Given the description of an element on the screen output the (x, y) to click on. 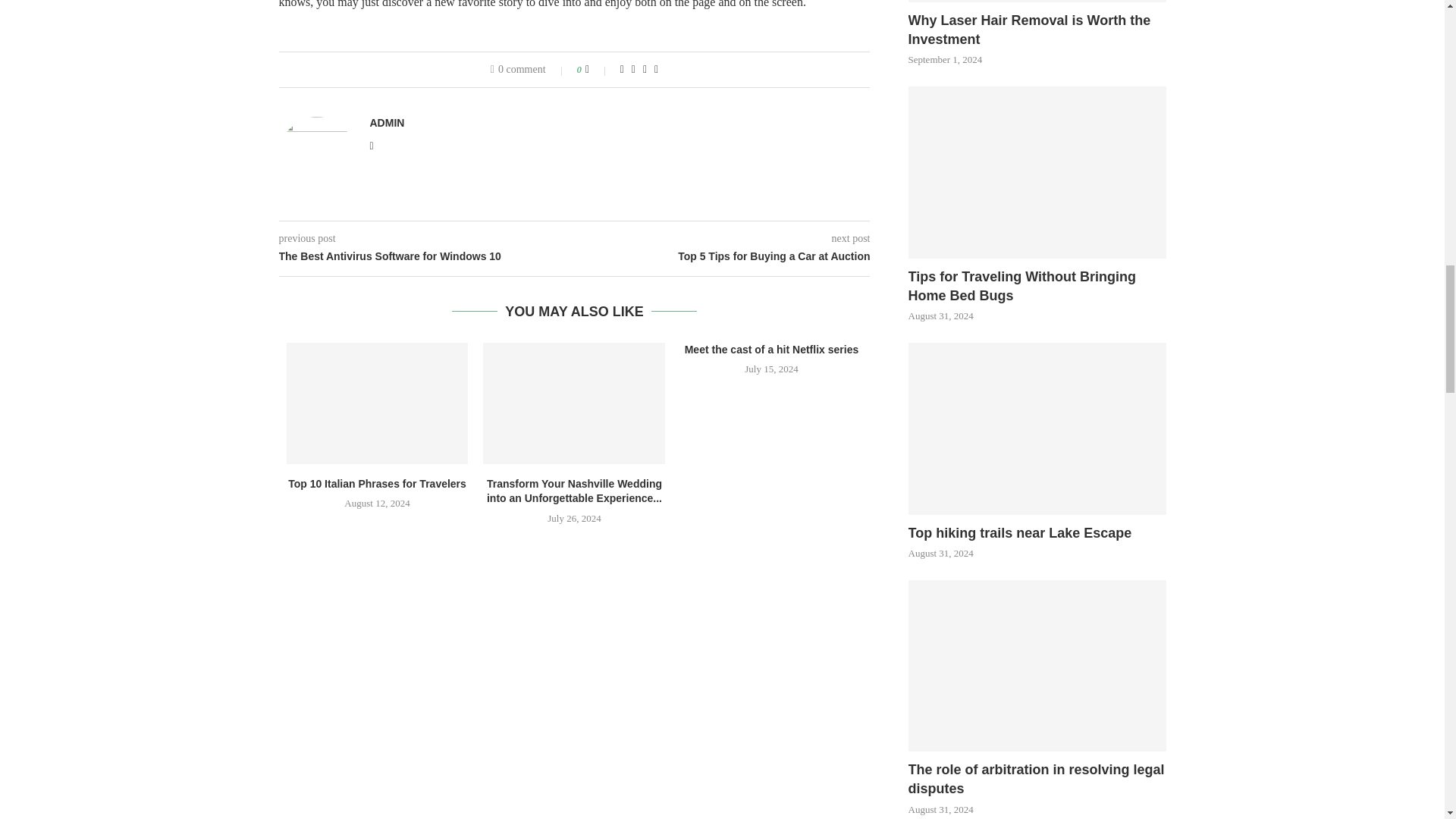
Top 10 Italian Phrases for Travelers (377, 403)
Author admin (386, 122)
ADMIN (386, 122)
Like (597, 69)
